Given the description of an element on the screen output the (x, y) to click on. 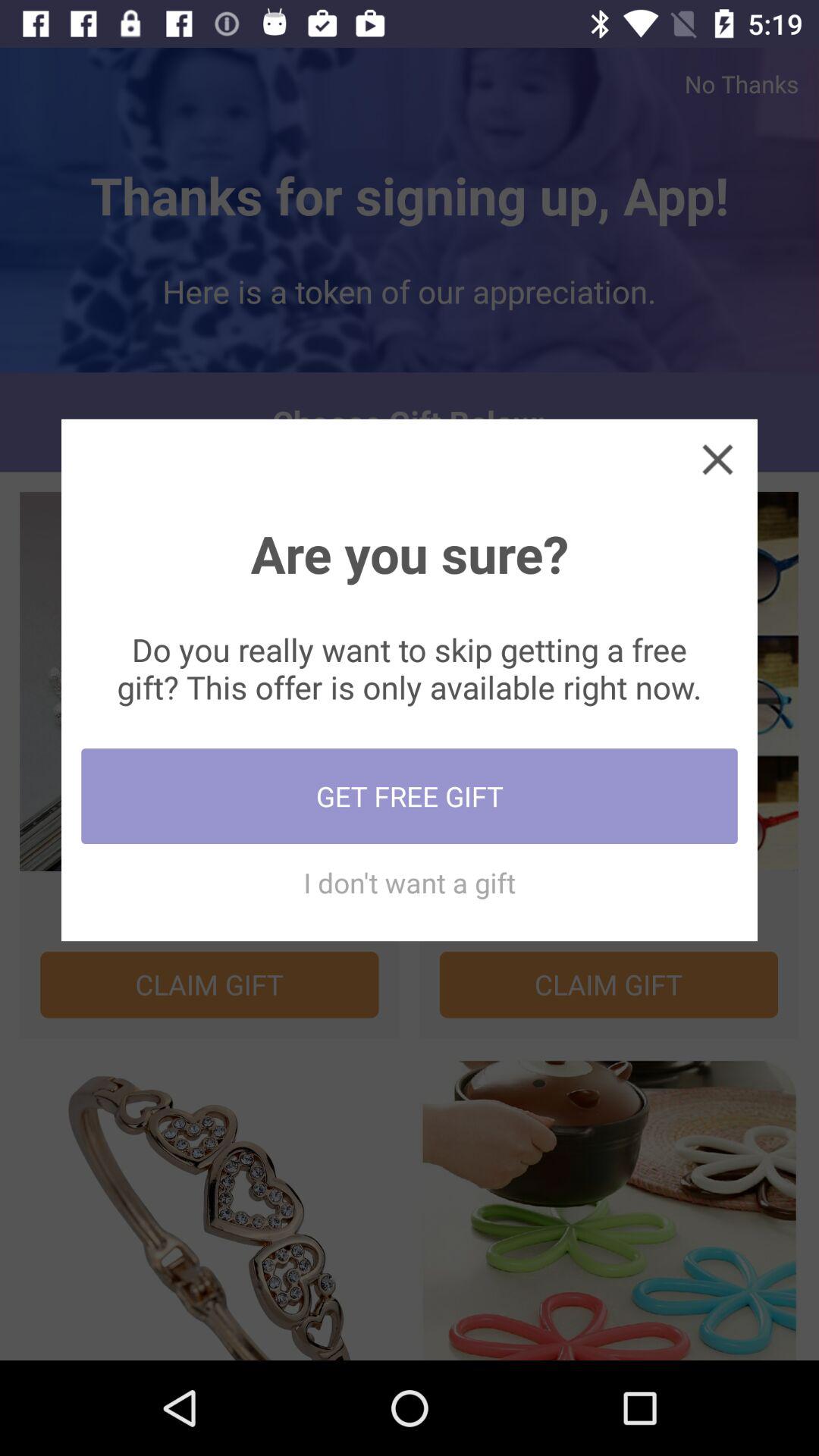
swipe until i don t (409, 882)
